Given the description of an element on the screen output the (x, y) to click on. 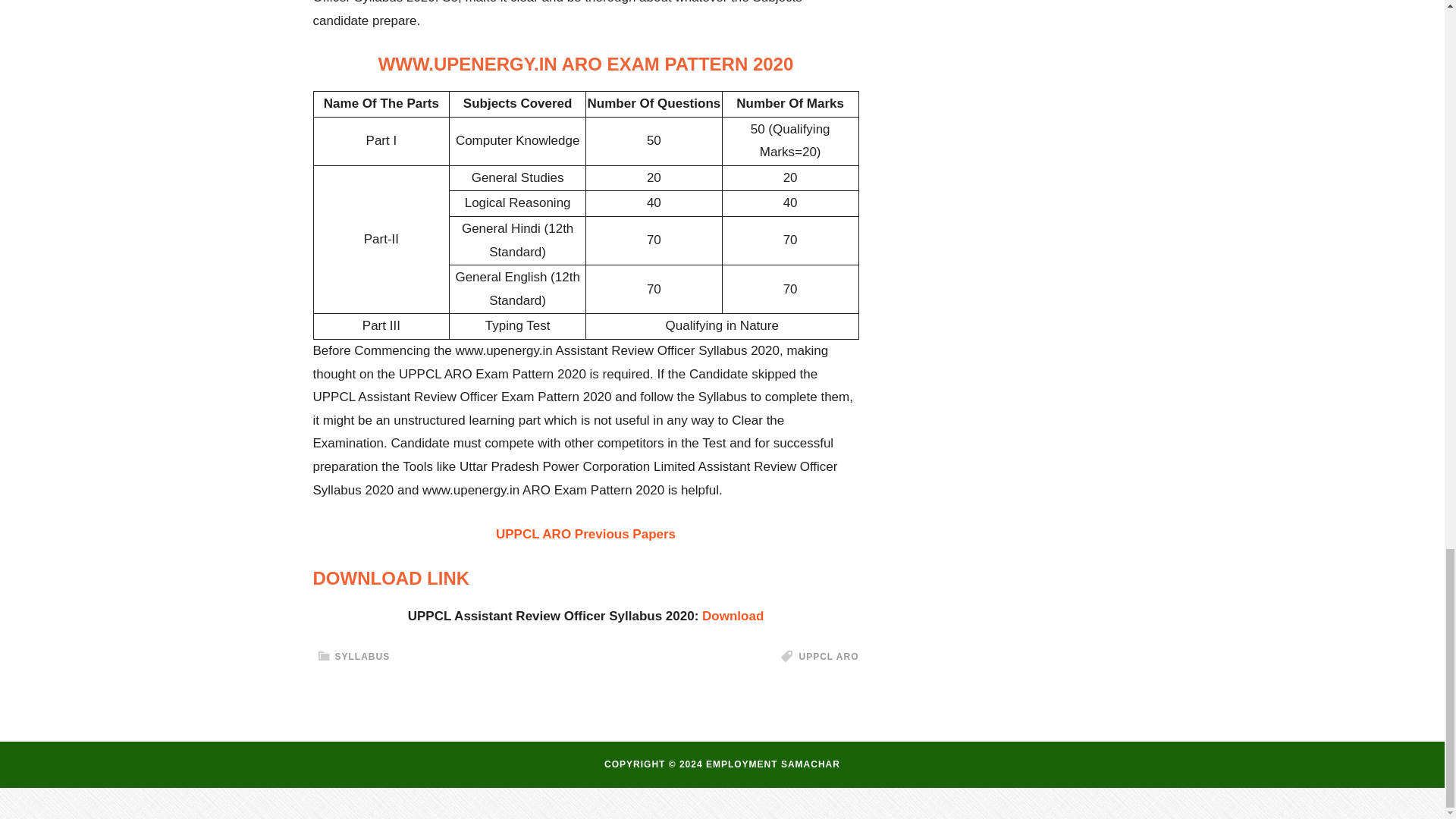
UPPCL ARO Previous Papers (585, 534)
EMPLOYMENT SAMACHAR (773, 764)
SYLLABUS (362, 656)
Download (731, 616)
UPPCL ARO (828, 656)
